Given the description of an element on the screen output the (x, y) to click on. 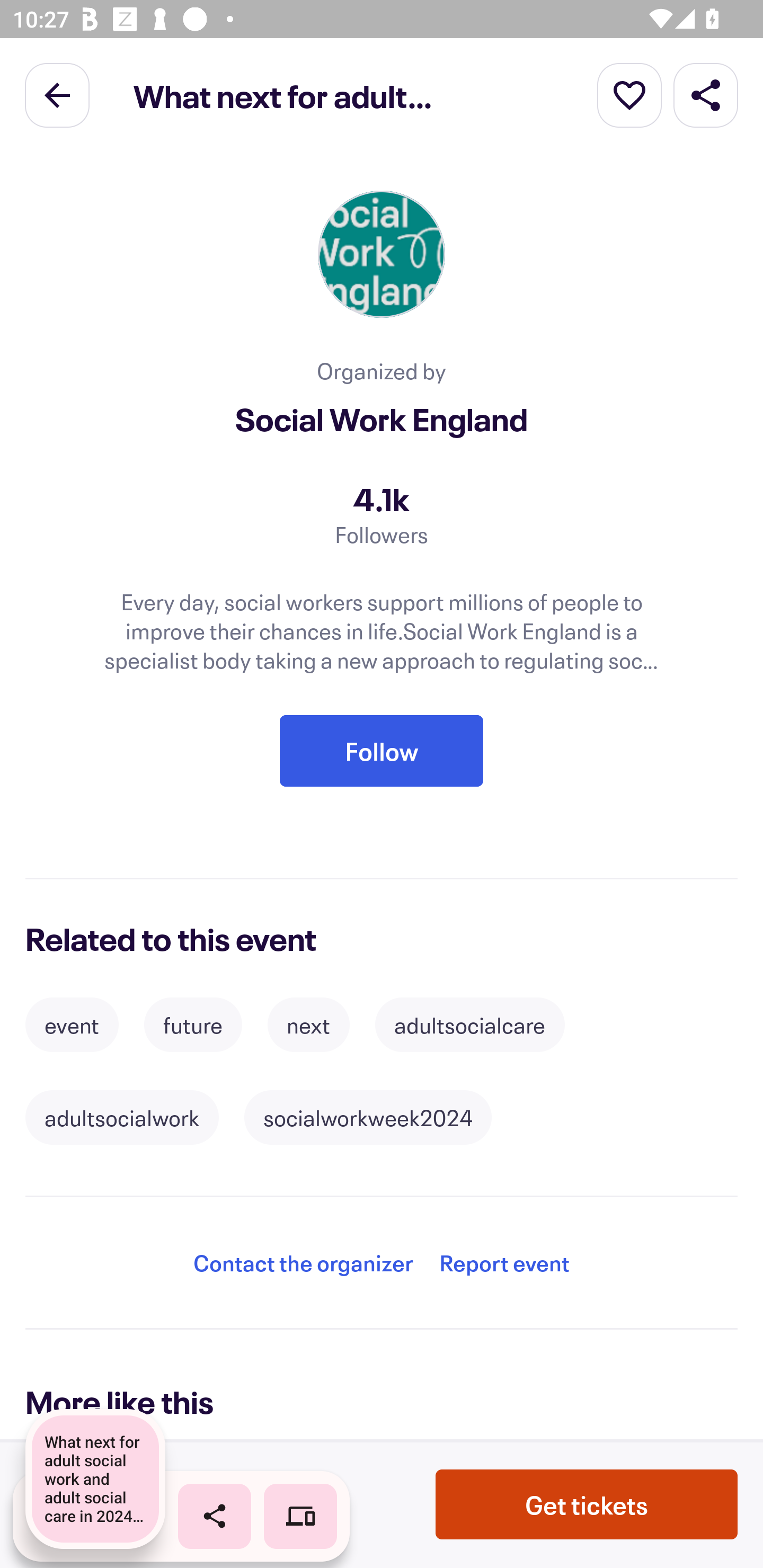
Back (57, 94)
More (629, 94)
Share (705, 94)
Organizer profile picture (381, 254)
Social Work England (381, 419)
Follow (381, 750)
event (72, 1024)
future (192, 1024)
next (308, 1024)
adultsocialcare (469, 1024)
adultsocialwork (121, 1117)
socialworkweek2024 (367, 1117)
Contact the organizer (303, 1262)
Report event (504, 1262)
Get tickets (586, 1504)
